Given the description of an element on the screen output the (x, y) to click on. 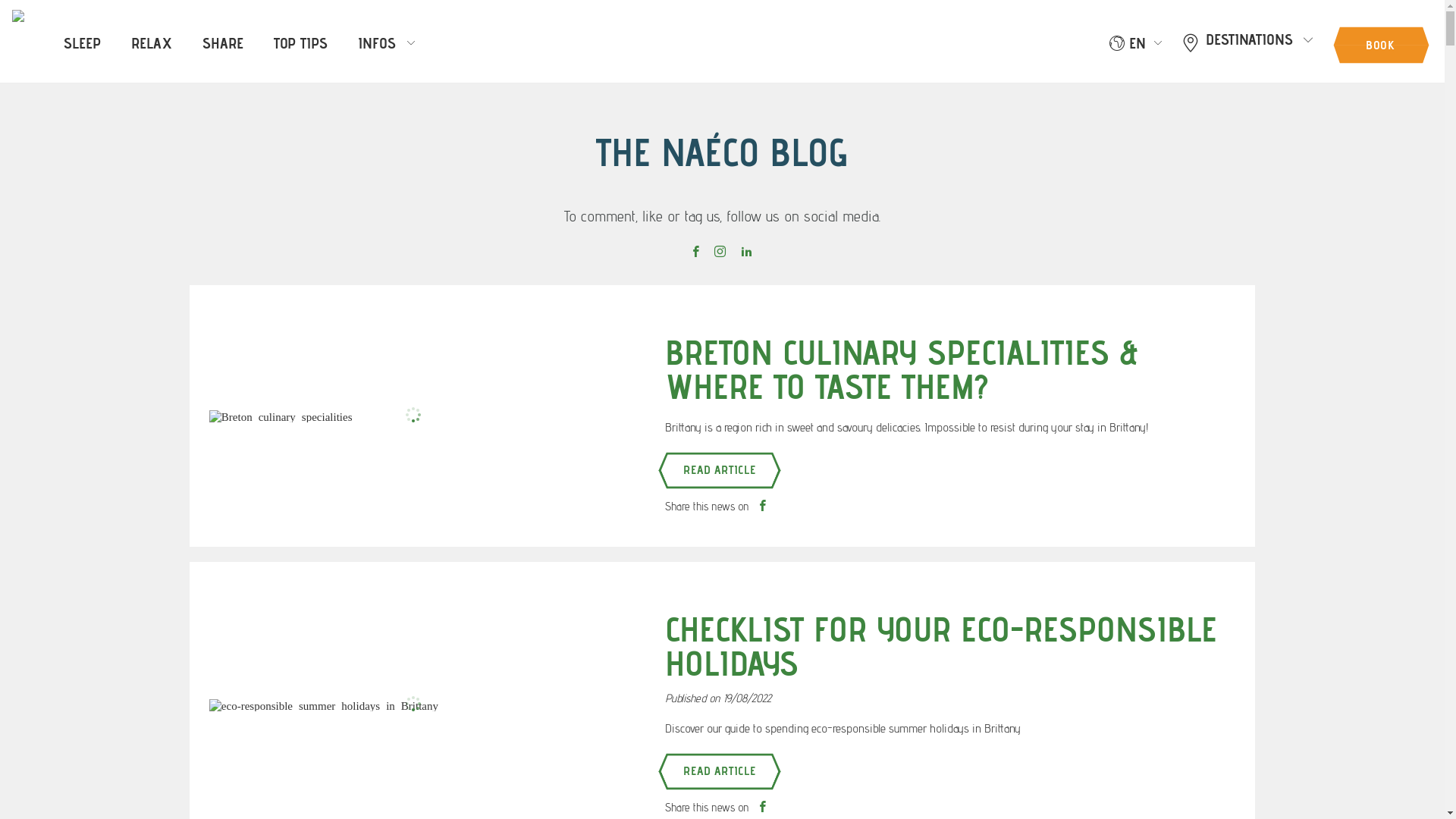
SHARE Element type: text (222, 42)
READ ARTICLE Element type: text (719, 771)
CHECKLIST FOR YOUR ECO-RESPONSIBLE HOLIDAYS Element type: text (942, 645)
DESTINATIONS Element type: text (1246, 42)
BRETON CULINARY SPECIALITIES & WHERE TO TASTE THEM? Element type: text (942, 369)
Checklist for your eco-responsible holidays Element type: hover (414, 705)
BRETON CULINARY SPECIALITIES & WHERE TO TASTE THEM? Element type: hover (414, 415)
TOP TIPS Element type: text (300, 42)
RELAX Element type: text (151, 42)
SLEEP Element type: text (82, 42)
INFOS Element type: text (385, 42)
READ ARTICLE Element type: text (719, 469)
BOOK Element type: text (1380, 43)
